Given the description of an element on the screen output the (x, y) to click on. 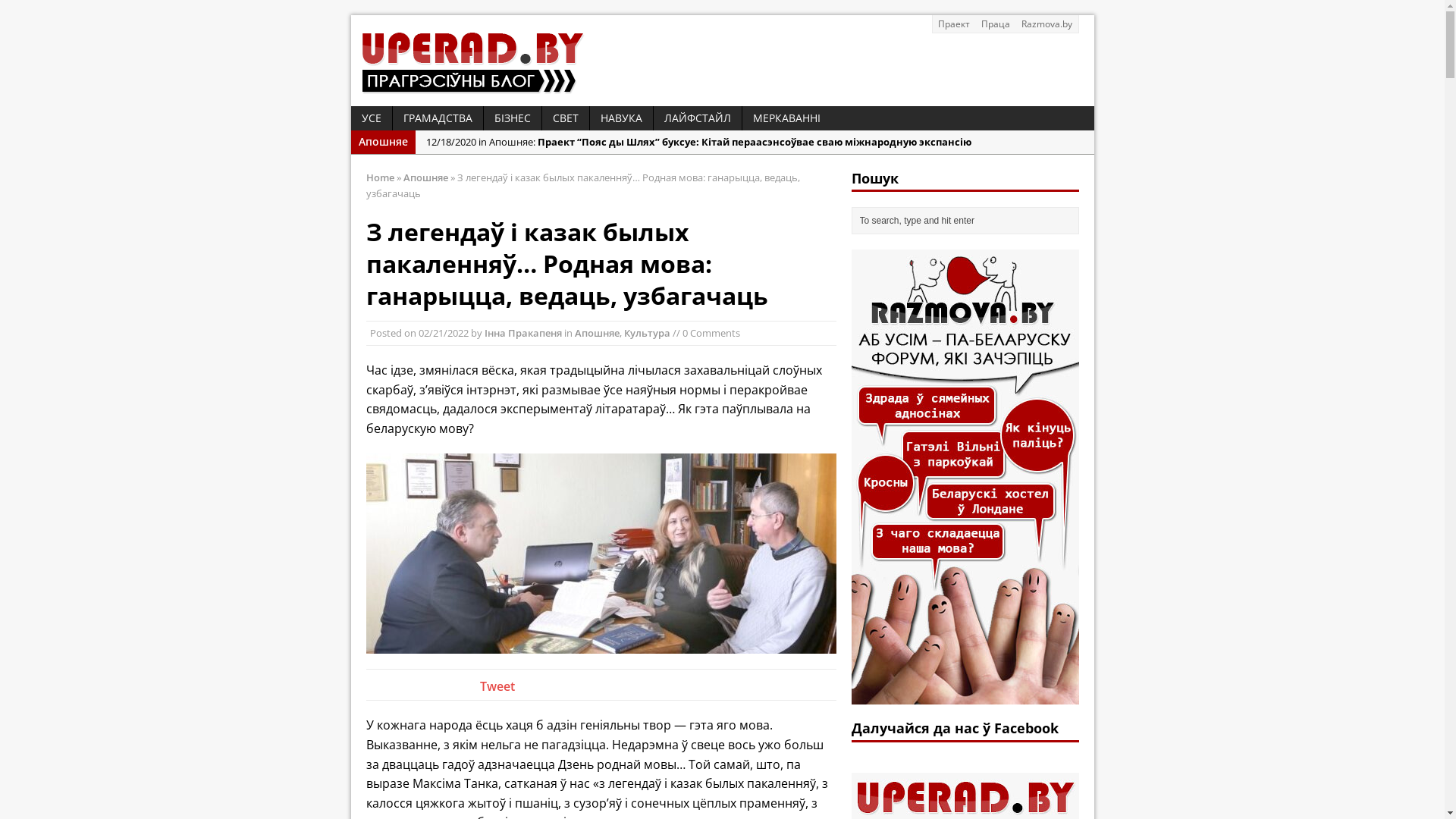
Tweet Element type: text (496, 685)
Uperad Element type: hover (721, 60)
Home Element type: text (379, 177)
Razmova.by Element type: text (1047, 23)
Rodnaya_mova Element type: hover (600, 553)
